Given the description of an element on the screen output the (x, y) to click on. 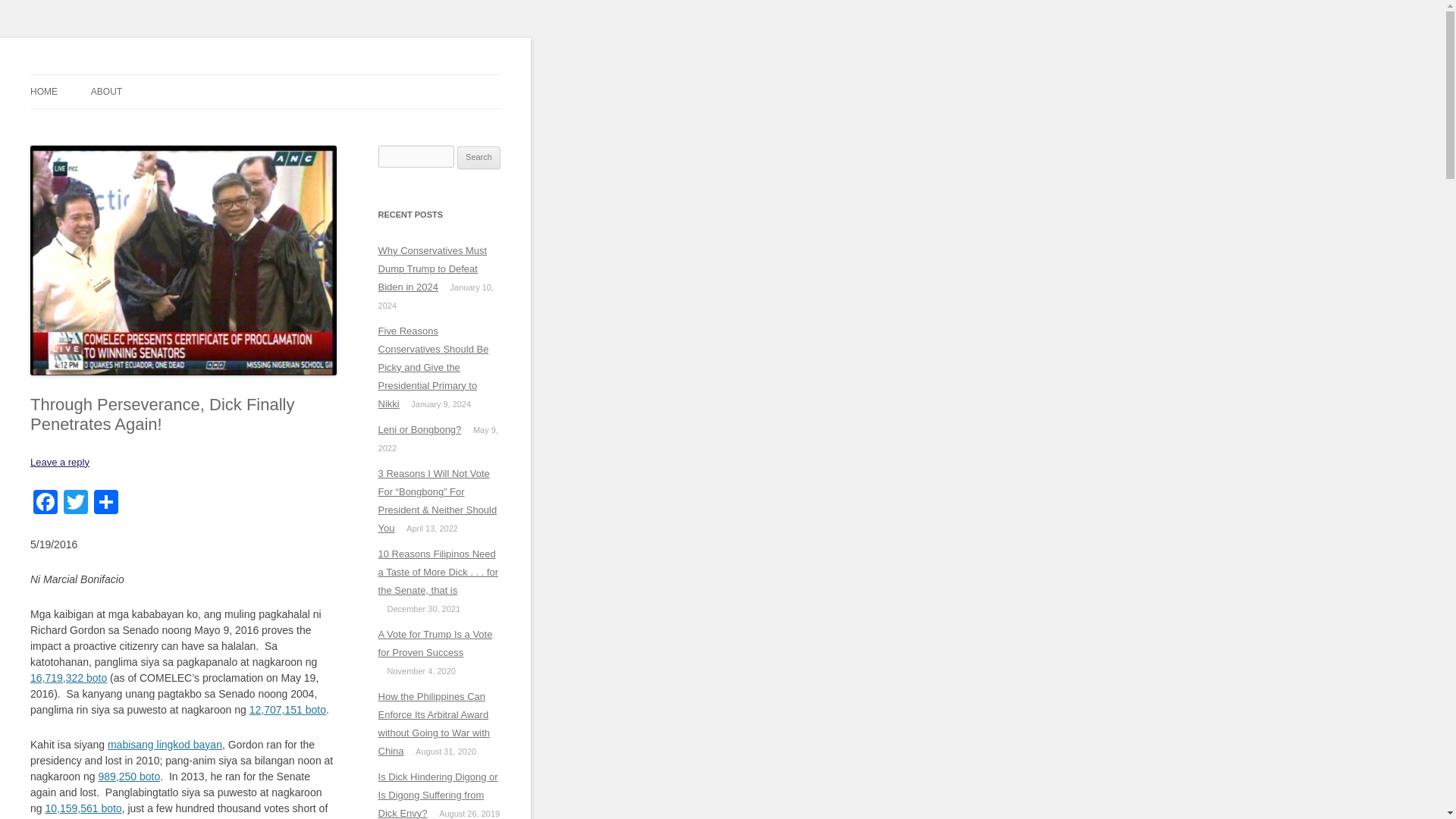
mabisang lingkod bayan (164, 744)
12,707,151 boto (287, 709)
Search (478, 157)
Twitter (75, 503)
Marcial's Law (93, 74)
16,719,322 boto (68, 677)
Twitter (75, 503)
989,250 boto (129, 776)
Leave a reply (59, 461)
